Given the description of an element on the screen output the (x, y) to click on. 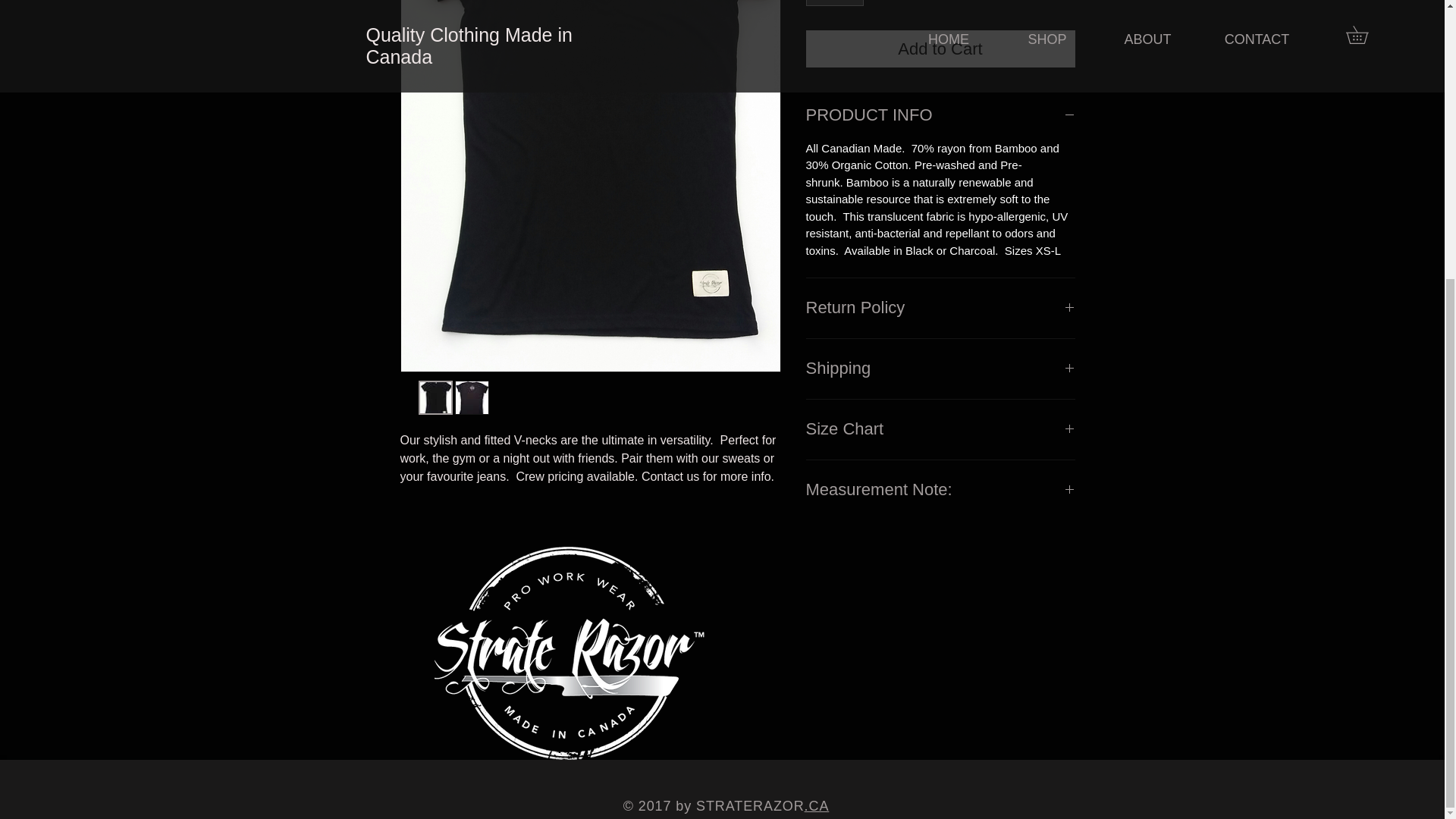
Shipping (939, 368)
Add to Cart (939, 48)
PRODUCT INFO (939, 115)
Measurement Note: (939, 490)
Return Policy (939, 308)
1 (834, 3)
Size Chart (939, 429)
